Given the description of an element on the screen output the (x, y) to click on. 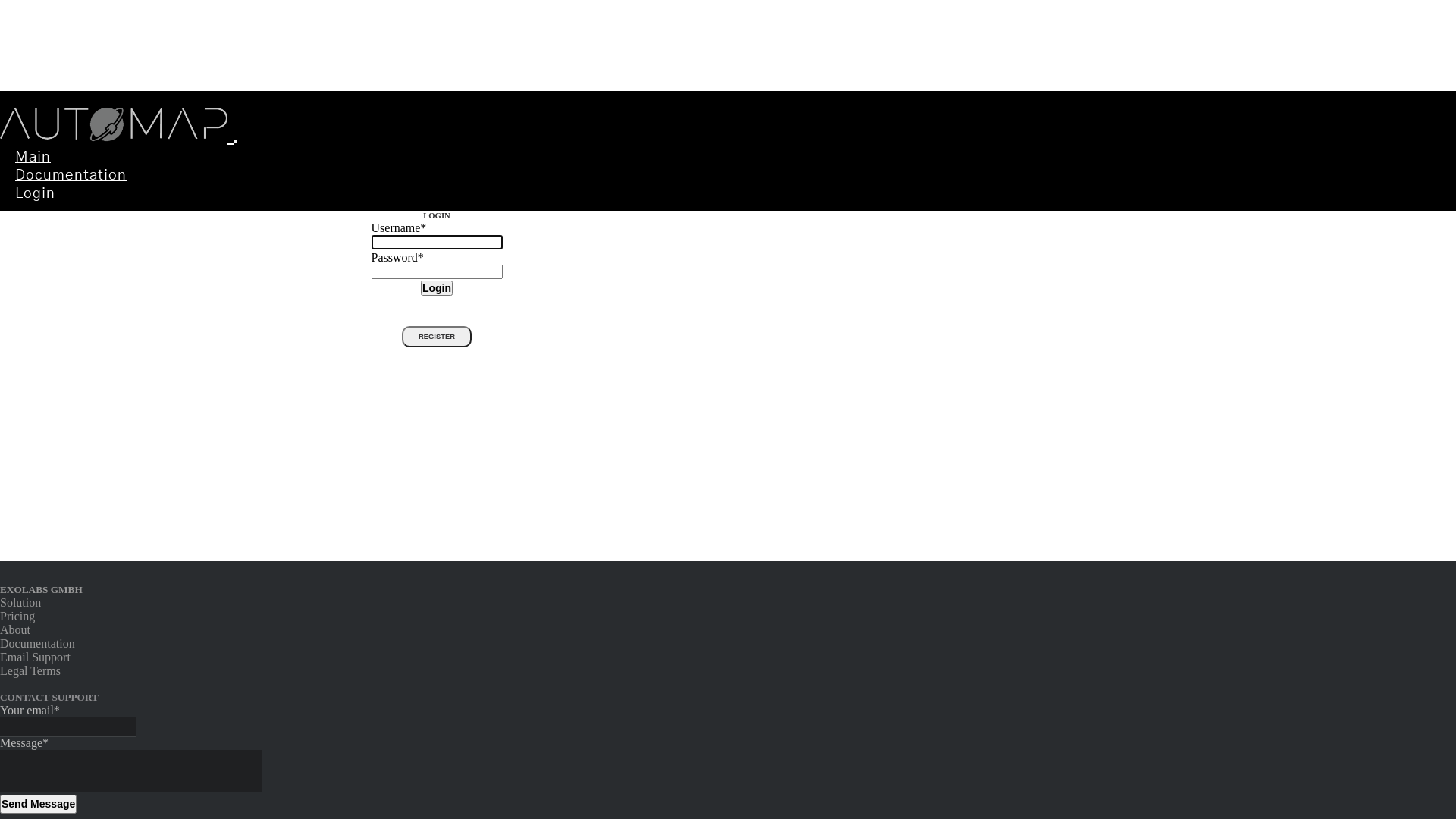
REGISTER Element type: text (436, 336)
Legal Terms Element type: text (30, 670)
Login Element type: text (35, 193)
Login Element type: text (436, 287)
Main Element type: text (32, 156)
Solution Element type: text (20, 602)
Documentation Element type: text (37, 643)
Pricing Element type: text (17, 615)
Send Message Element type: text (38, 803)
About Element type: text (15, 629)
Documentation Element type: text (70, 175)
EXOLABS GMBH Element type: text (41, 589)
Email Support Element type: text (35, 656)
